Given the description of an element on the screen output the (x, y) to click on. 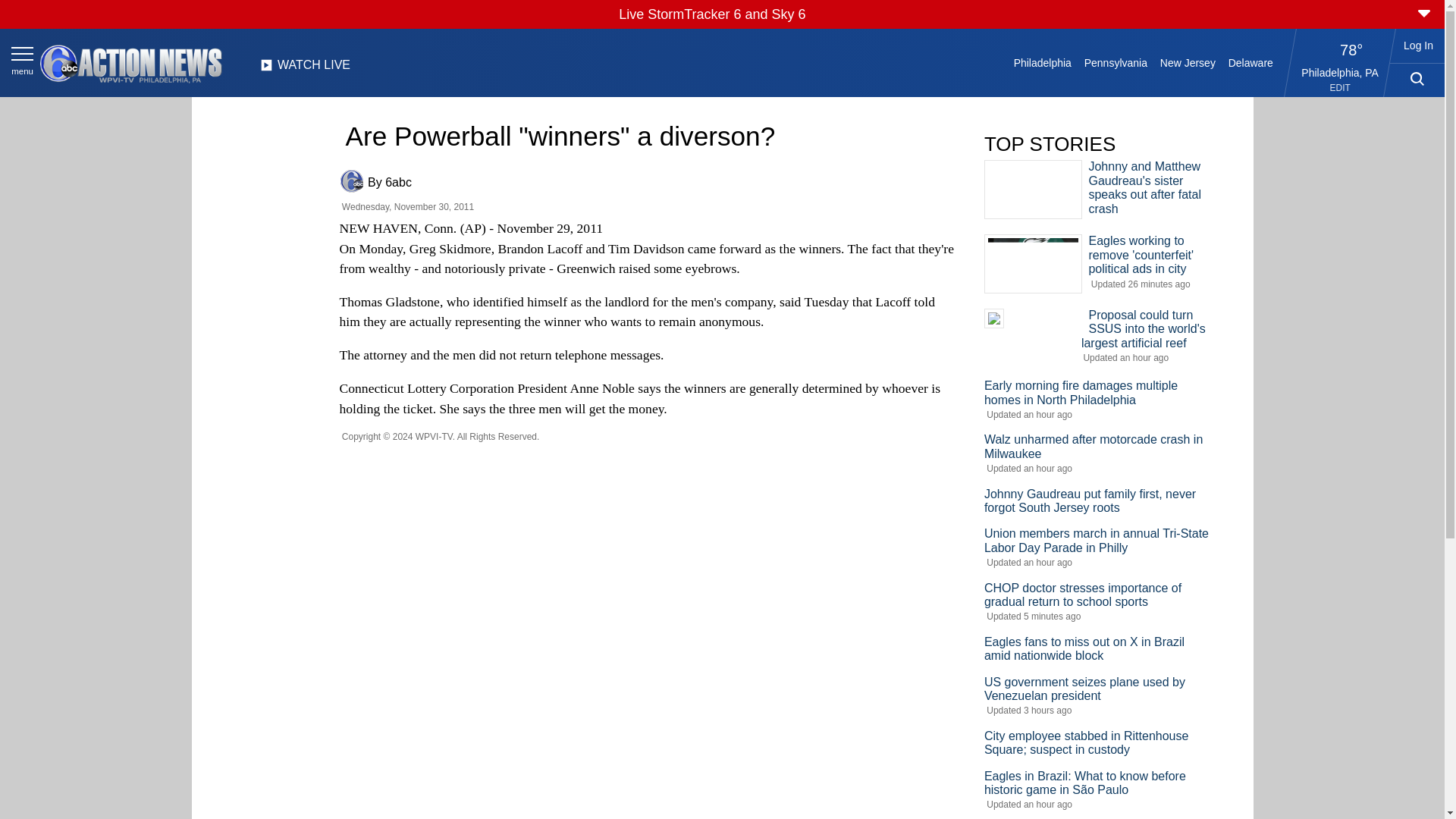
WATCH LIVE (305, 69)
New Jersey (1187, 62)
EDIT (1340, 87)
Delaware (1250, 62)
Philadelphia, PA (1339, 72)
Philadelphia (1042, 62)
Pennsylvania (1115, 62)
